Given the description of an element on the screen output the (x, y) to click on. 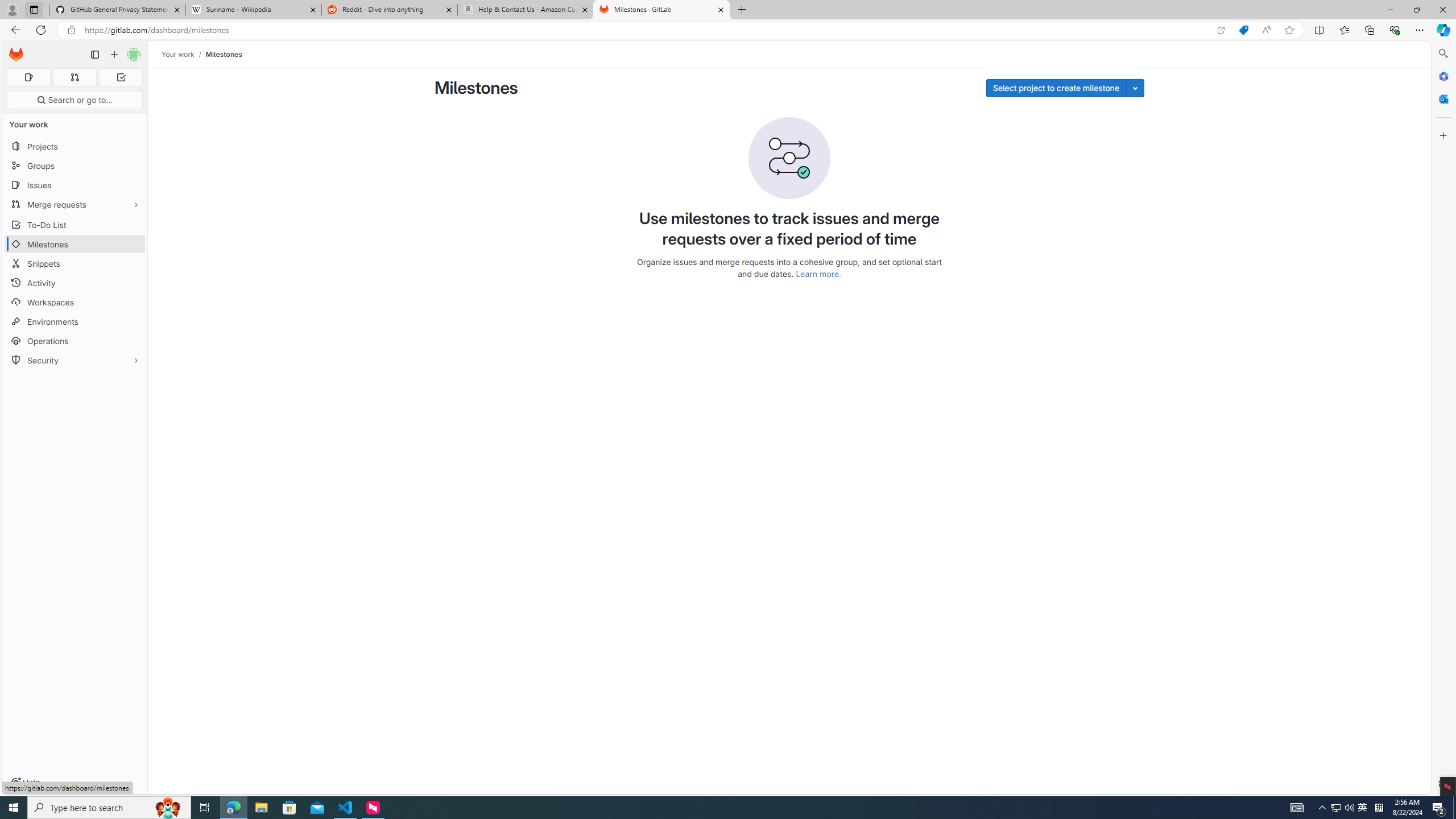
Your work/ (183, 53)
Workspaces (74, 302)
Merge requests (74, 203)
Microsoft 365 (1442, 76)
Workspaces (74, 302)
Environments (74, 321)
Operations (74, 340)
Side bar (1443, 418)
Milestones (223, 53)
Suriname - Wikipedia (253, 9)
Search (1442, 53)
Assigned issues 0 (28, 76)
Activity (74, 282)
